Given the description of an element on the screen output the (x, y) to click on. 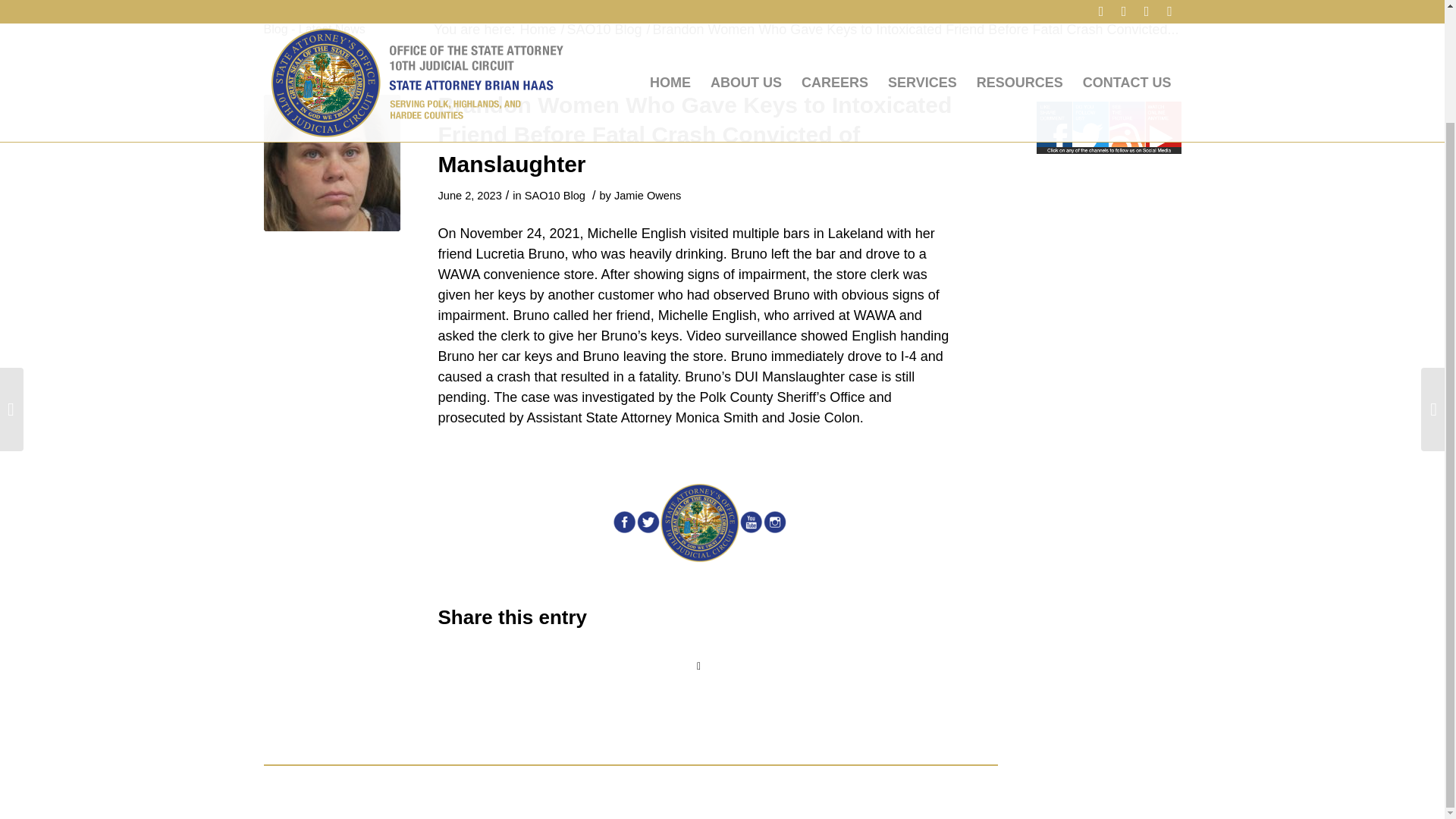
Posts by Jamie Owens (647, 195)
Office of the State Attorney 10th Judicial Circuit Logo (416, 4)
Blog - Latest News (314, 29)
Michelle English (331, 162)
State Attorney Office 10th Judicial Circuit (536, 30)
SERVICES (921, 4)
ABOUT US (746, 4)
SAO10 Blog (603, 30)
CONTACT US (1126, 4)
RESOURCES (1019, 4)
CAREERS (834, 4)
Permanent Link: Blog - Latest News (314, 29)
Home (536, 30)
SAO10 Blog (554, 195)
Jamie Owens (647, 195)
